Given the description of an element on the screen output the (x, y) to click on. 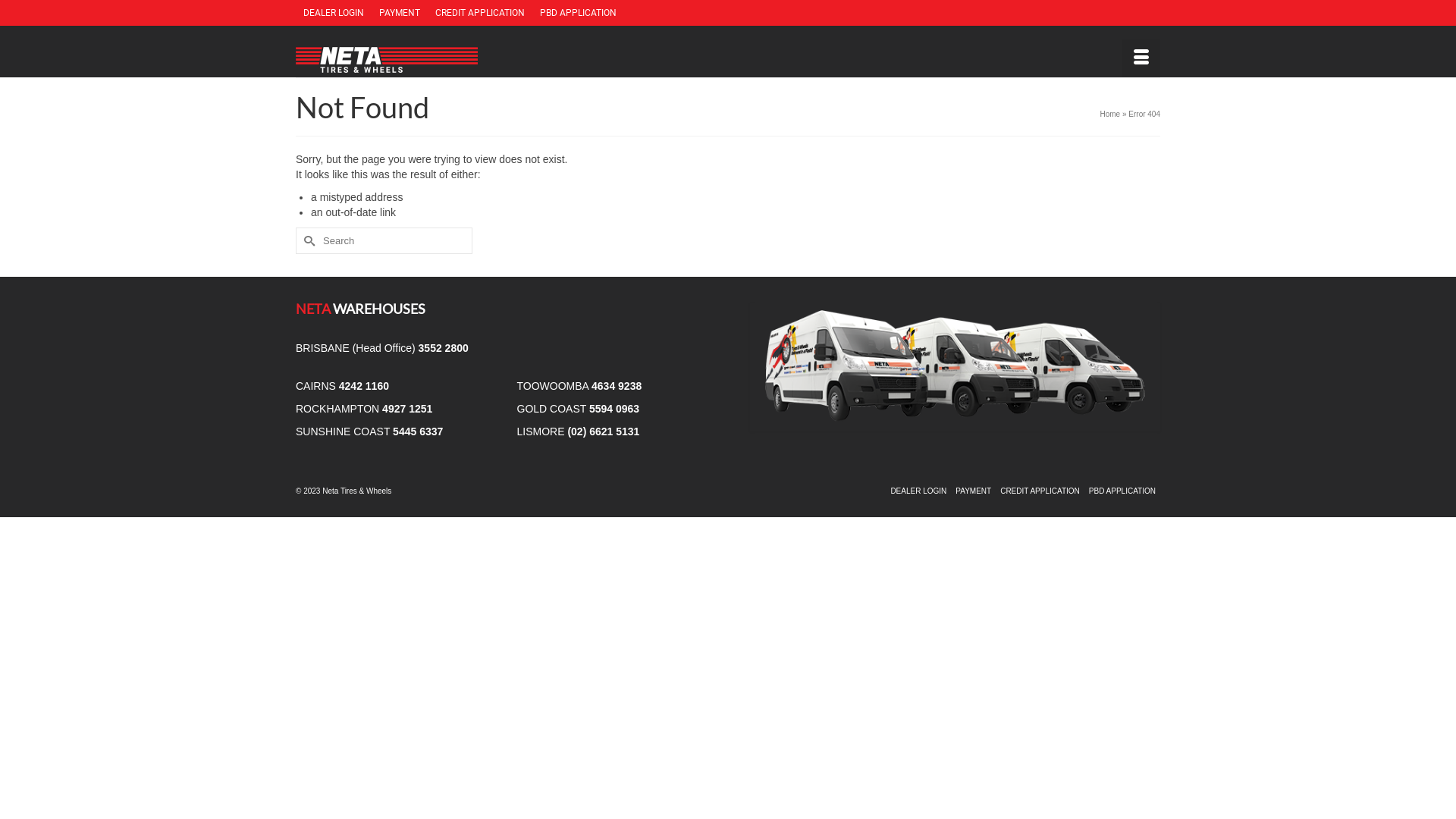
Neta Tires & Wheels Element type: hover (431, 59)
DEALER LOGIN Element type: text (333, 12)
PAYMENT Element type: text (972, 491)
PBD APPLICATION Element type: text (1122, 491)
Home Element type: text (1109, 113)
PBD APPLICATION Element type: text (578, 12)
CREDIT APPLICATION Element type: text (479, 12)
Menu Element type: hover (1141, 58)
DEALER LOGIN Element type: text (917, 491)
CREDIT APPLICATION Element type: text (1039, 491)
PAYMENT Element type: text (399, 12)
